Given the description of an element on the screen output the (x, y) to click on. 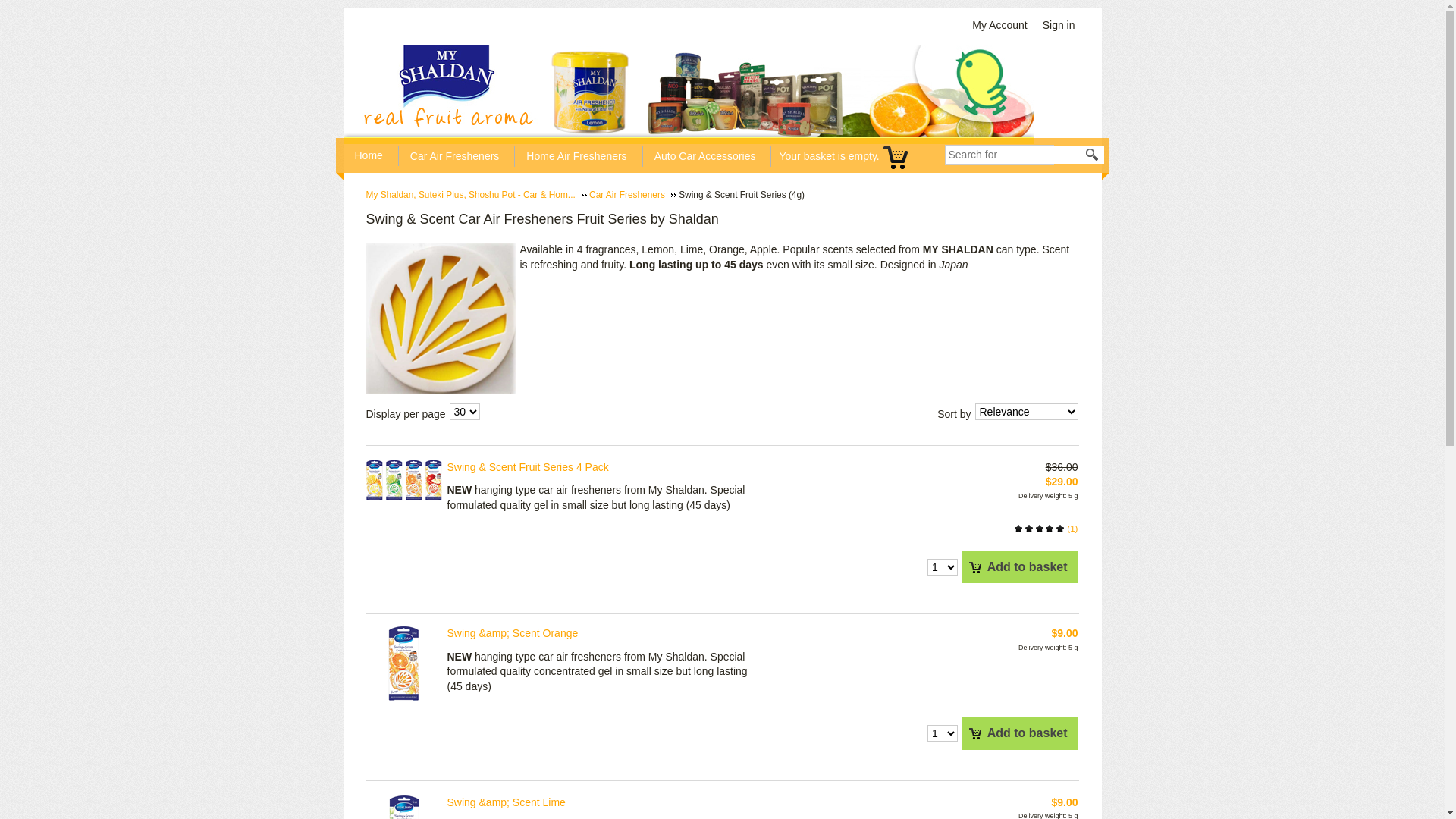
Go to product Element type: hover (403, 479)
Add to basket Element type: text (1019, 567)
Add to basket Element type: text (1019, 733)
Swing & Scent Car Air Fresheners Fruit Series by Shaldan Element type: hover (439, 318)
Car Air Fresheners Element type: text (458, 154)
Go to product Element type: hover (404, 663)
My Account Element type: text (1003, 25)
Car Air Fresheners Element type: text (632, 194)
Swing &amp; Scent Lime Element type: text (506, 802)
Start search Element type: hover (1092, 154)
Auto Car Accessories Element type: text (708, 154)
(1) Element type: text (1046, 527)
Swing & Scent Fruit Series 4 Pack Element type: text (527, 467)
My Shaldan, Suteki Plus, Shoshu Pot - Car & Hom... Element type: text (475, 194)
Swing &amp; Scent Orange Element type: text (512, 633)
Home Element type: text (372, 154)
Home Air Fresheners Element type: text (579, 154)
Sign in Element type: text (1062, 25)
